Given the description of an element on the screen output the (x, y) to click on. 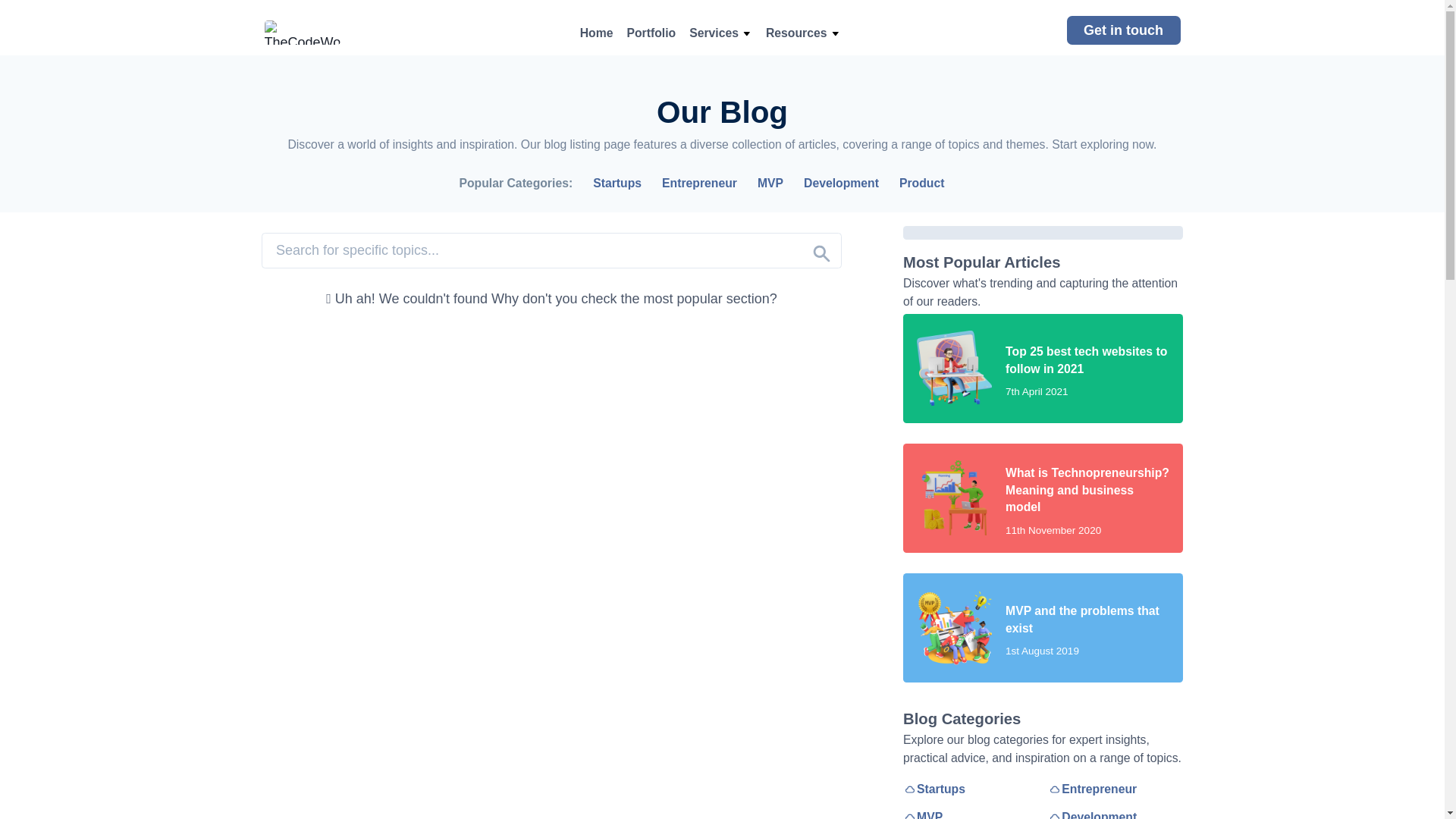
dropdown (746, 33)
dropdown (834, 33)
Entrepreneur (700, 183)
Services (713, 33)
Portfolio (650, 33)
Home (595, 33)
Get in touch (1122, 30)
Resources (796, 33)
Startups (617, 183)
